Given the description of an element on the screen output the (x, y) to click on. 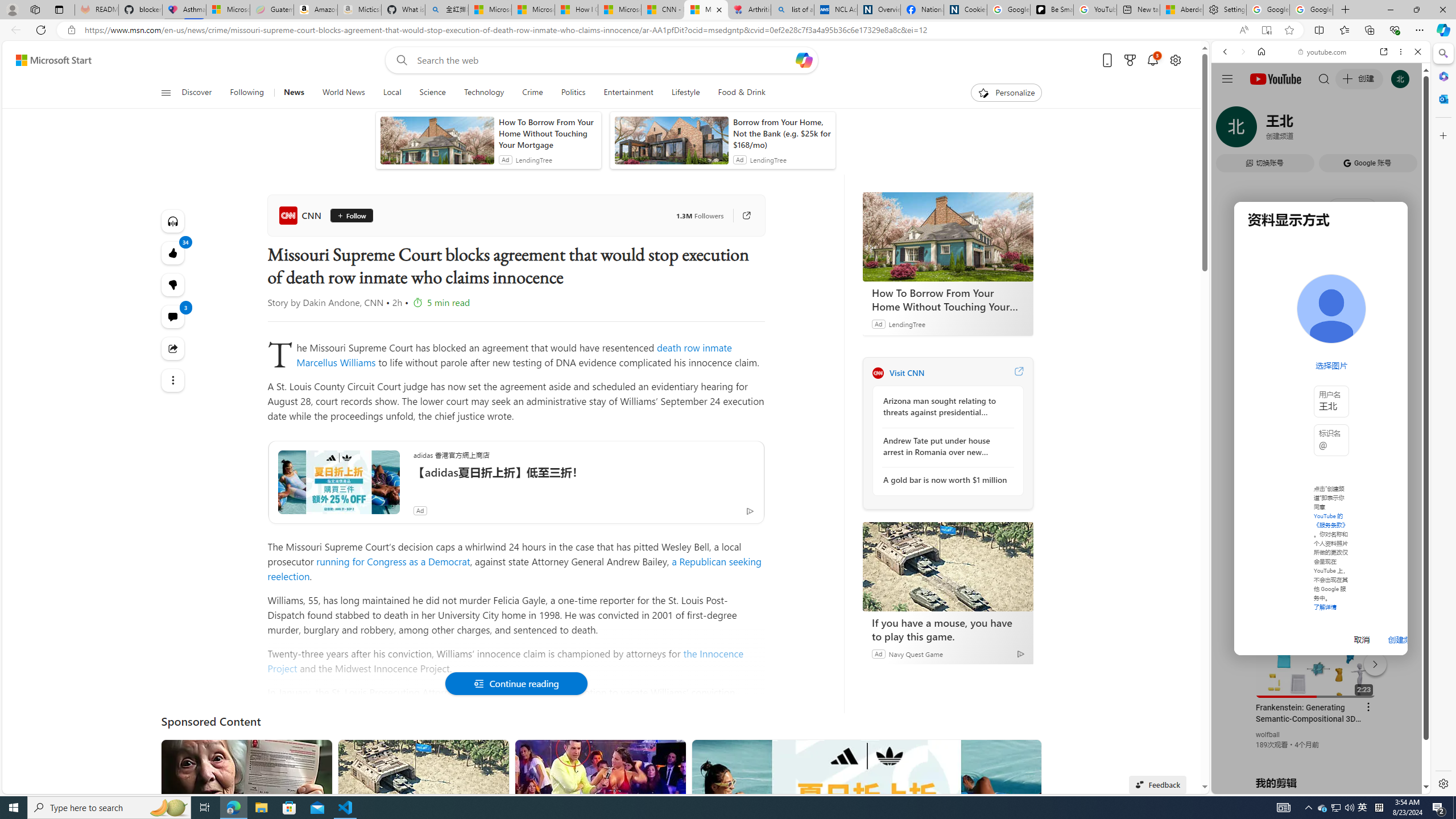
running for Congress as a Democrat (392, 561)
Music (1320, 309)
